Given the description of an element on the screen output the (x, y) to click on. 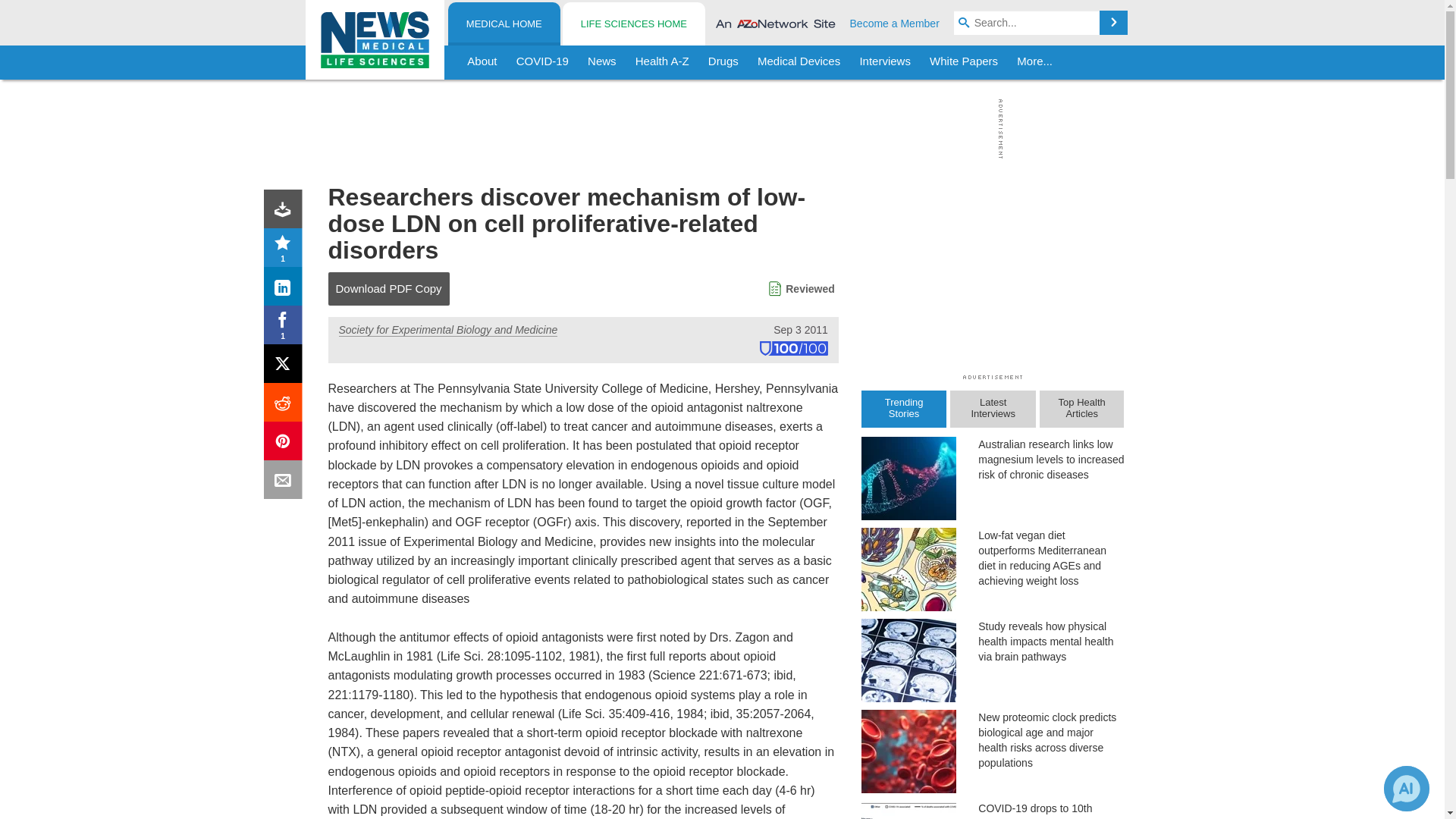
Reddit (285, 405)
COVID-19 (542, 62)
Medical Devices (798, 62)
3rd party ad content (718, 128)
About (482, 62)
Pinterest (285, 443)
Drugs (722, 62)
Interviews (884, 62)
LinkedIn (285, 289)
